Given the description of an element on the screen output the (x, y) to click on. 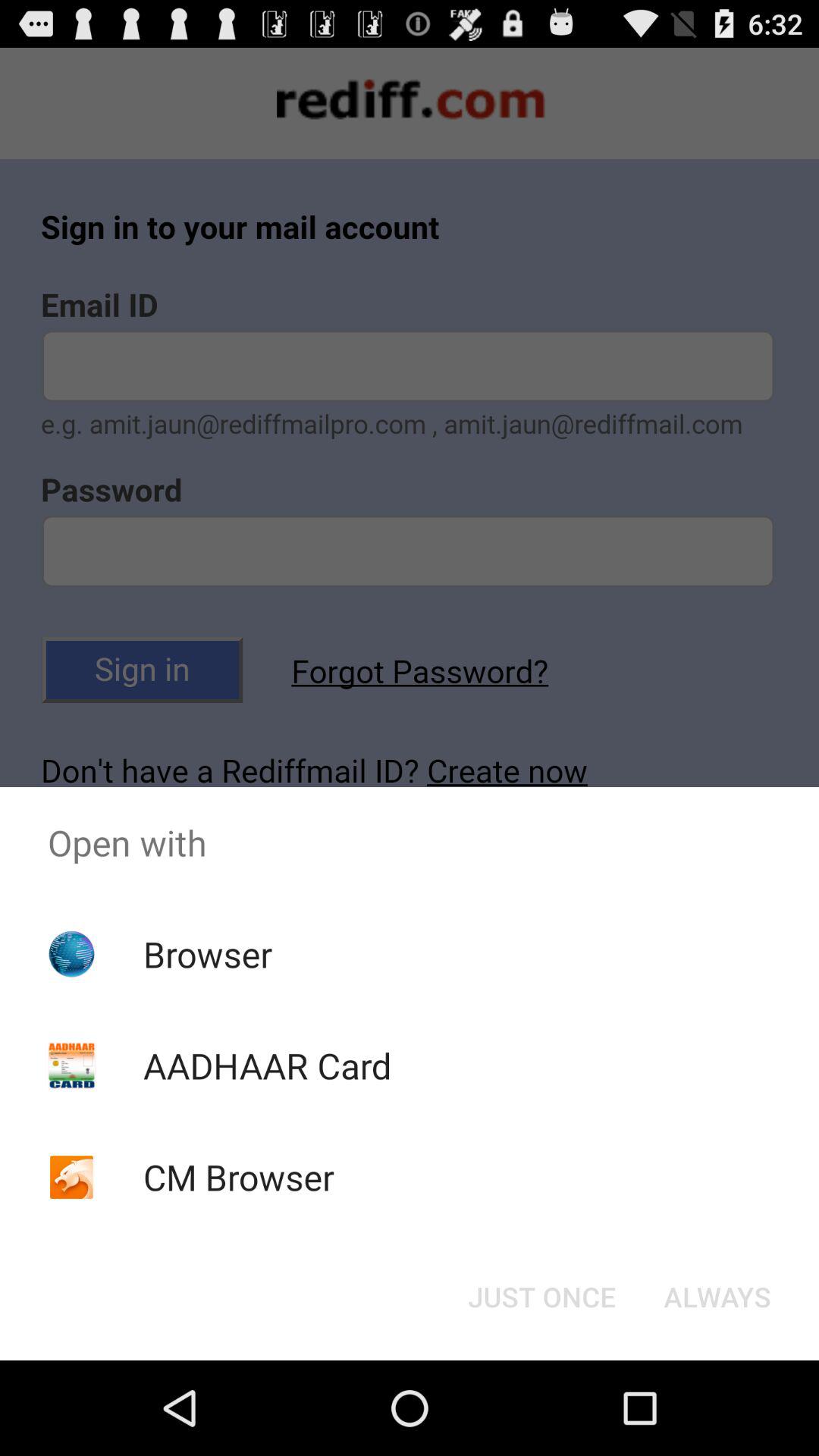
turn off the app below aadhaar card icon (238, 1176)
